Given the description of an element on the screen output the (x, y) to click on. 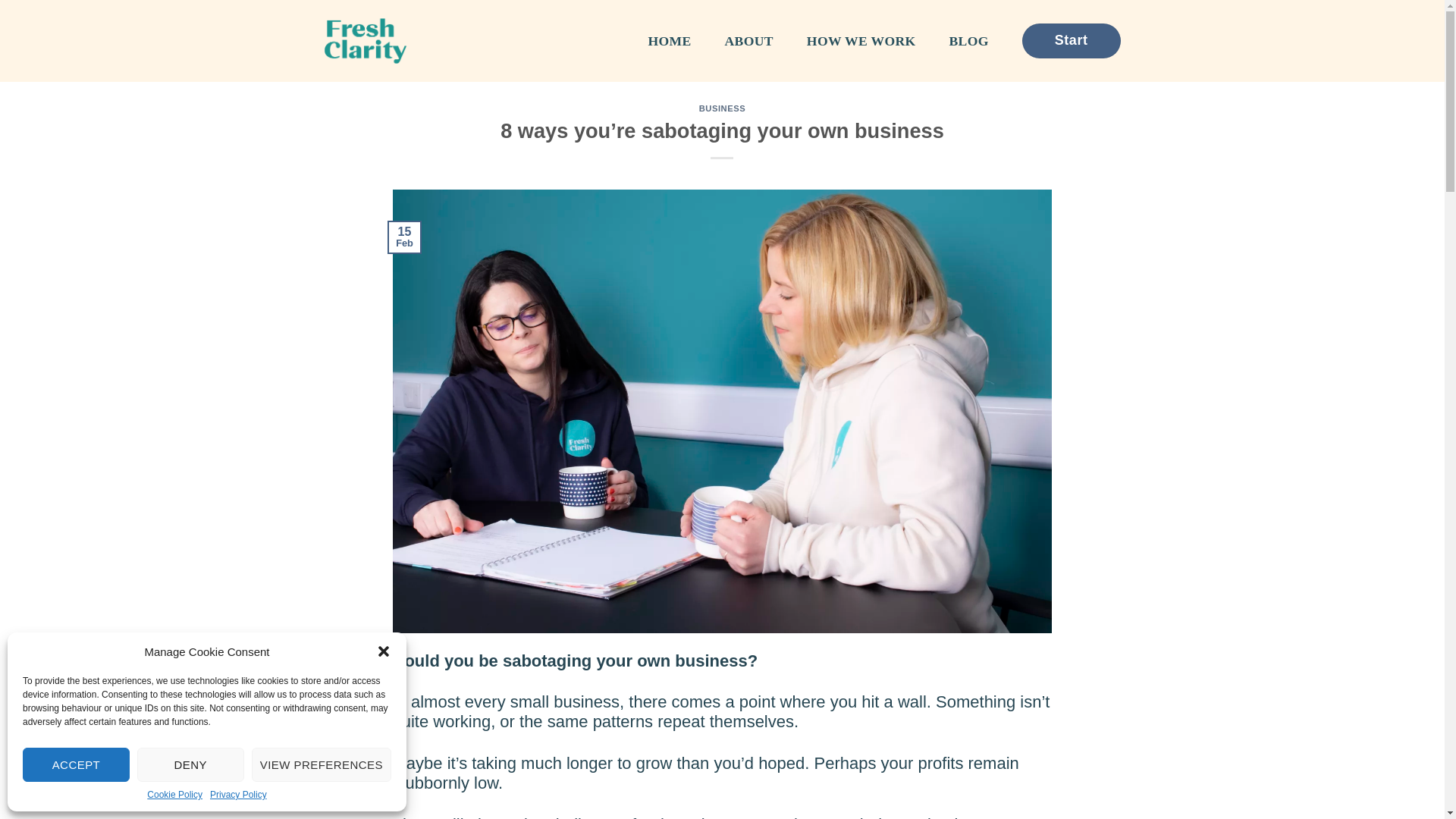
Cookie Policy (174, 794)
BLOG (968, 40)
ABOUT (749, 40)
DENY (190, 764)
HOW WE WORK (860, 40)
Fresh Clarity (400, 40)
HOME (668, 40)
ACCEPT (76, 764)
Privacy Policy (237, 794)
VIEW PREFERENCES (321, 764)
BUSINESS (721, 108)
Start (1071, 40)
